Given the description of an element on the screen output the (x, y) to click on. 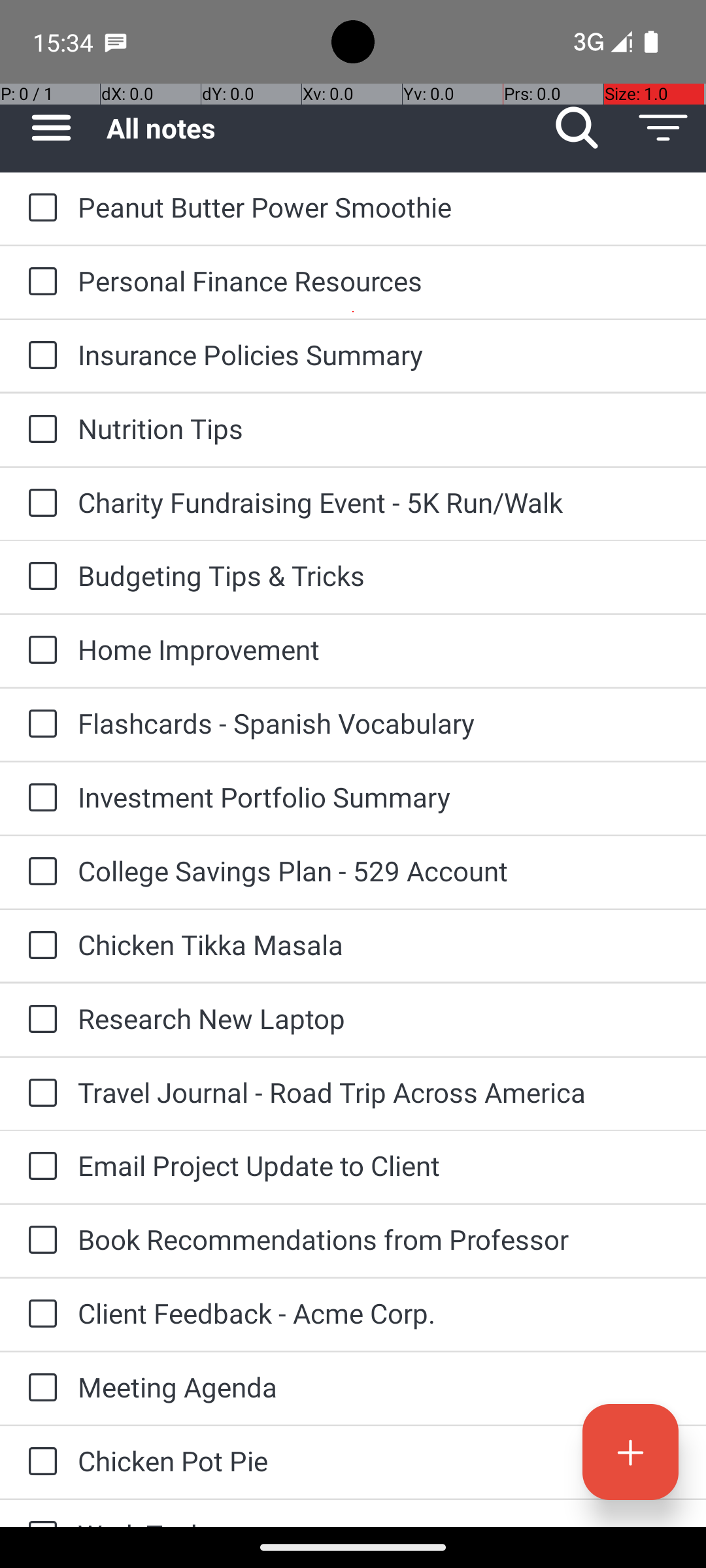
to-do: Peanut Butter Power Smoothie Element type: android.widget.CheckBox (38, 208)
Peanut Butter Power Smoothie Element type: android.widget.TextView (378, 206)
to-do: Personal Finance Resources Element type: android.widget.CheckBox (38, 282)
Personal Finance Resources Element type: android.widget.TextView (378, 280)
to-do: Insurance Policies Summary Element type: android.widget.CheckBox (38, 356)
Insurance Policies Summary Element type: android.widget.TextView (378, 354)
to-do: Nutrition Tips Element type: android.widget.CheckBox (38, 429)
Nutrition Tips Element type: android.widget.TextView (378, 427)
to-do: Charity Fundraising Event - 5K Run/Walk Element type: android.widget.CheckBox (38, 503)
Charity Fundraising Event - 5K Run/Walk Element type: android.widget.TextView (378, 501)
to-do: Budgeting Tips & Tricks Element type: android.widget.CheckBox (38, 576)
Budgeting Tips & Tricks Element type: android.widget.TextView (378, 574)
to-do: Home Improvement Element type: android.widget.CheckBox (38, 650)
Home Improvement Element type: android.widget.TextView (378, 648)
to-do: Flashcards - Spanish Vocabulary Element type: android.widget.CheckBox (38, 724)
Flashcards - Spanish Vocabulary Element type: android.widget.TextView (378, 722)
to-do: Investment Portfolio Summary Element type: android.widget.CheckBox (38, 798)
Investment Portfolio Summary Element type: android.widget.TextView (378, 796)
to-do: College Savings Plan - 529 Account Element type: android.widget.CheckBox (38, 872)
College Savings Plan - 529 Account Element type: android.widget.TextView (378, 870)
to-do: Chicken Tikka Masala Element type: android.widget.CheckBox (38, 945)
Chicken Tikka Masala Element type: android.widget.TextView (378, 944)
to-do: Research New Laptop Element type: android.widget.CheckBox (38, 1019)
Research New Laptop Element type: android.widget.TextView (378, 1017)
to-do: Travel Journal - Road Trip Across America Element type: android.widget.CheckBox (38, 1093)
Travel Journal - Road Trip Across America Element type: android.widget.TextView (378, 1091)
to-do: Email Project Update to Client Element type: android.widget.CheckBox (38, 1166)
Email Project Update to Client Element type: android.widget.TextView (378, 1164)
to-do: Book Recommendations from Professor Element type: android.widget.CheckBox (38, 1240)
Book Recommendations from Professor Element type: android.widget.TextView (378, 1238)
to-do: Client Feedback - Acme Corp. Element type: android.widget.CheckBox (38, 1314)
Client Feedback - Acme Corp. Element type: android.widget.TextView (378, 1312)
to-do: Meeting Agenda Element type: android.widget.CheckBox (38, 1388)
Meeting Agenda Element type: android.widget.TextView (378, 1386)
to-do: Chicken Pot Pie Element type: android.widget.CheckBox (38, 1462)
Chicken Pot Pie Element type: android.widget.TextView (378, 1460)
to-do: Work Tasks Element type: android.widget.CheckBox (38, 1513)
Work Tasks Element type: android.widget.TextView (378, 1520)
